Given the description of an element on the screen output the (x, y) to click on. 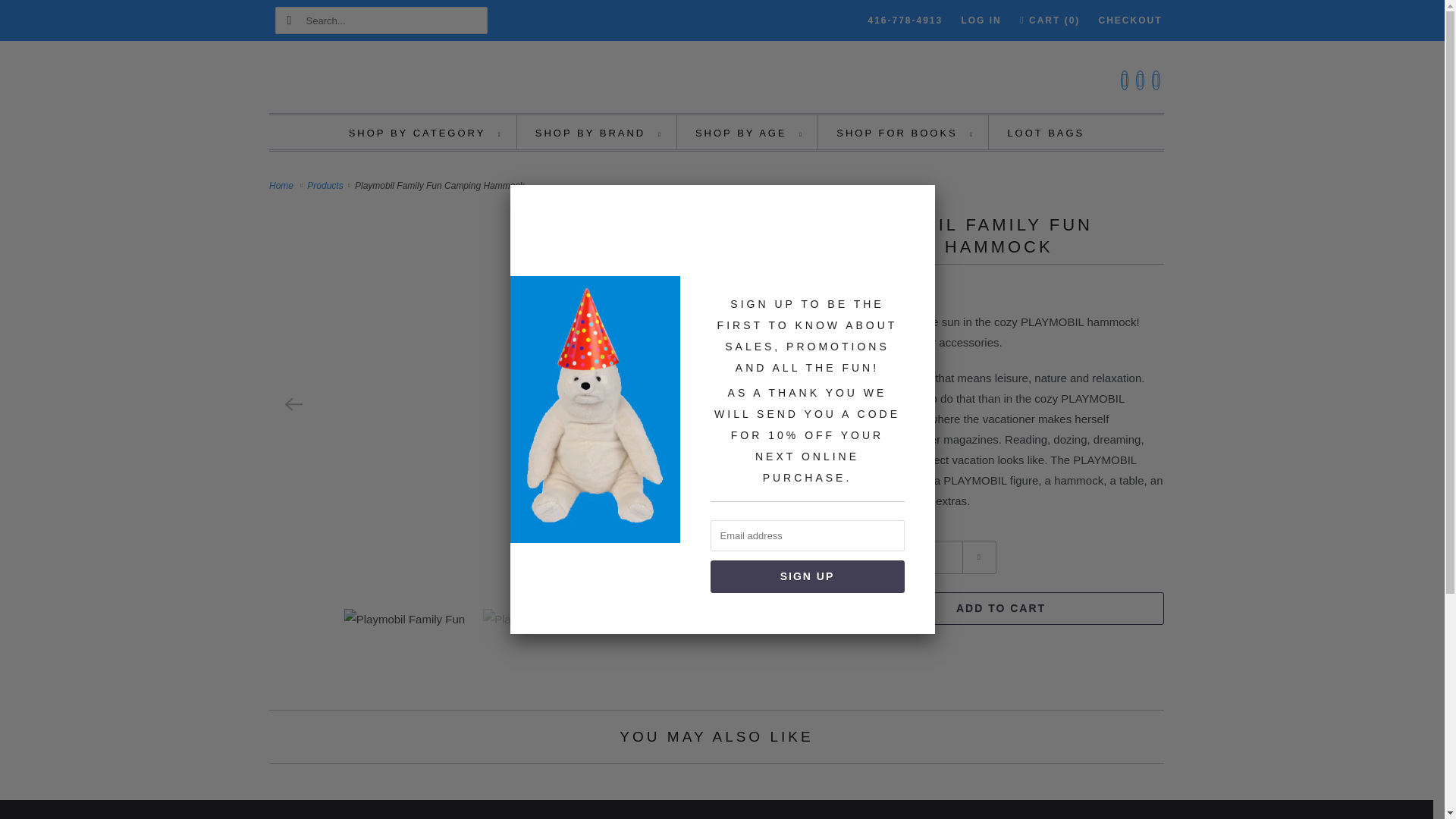
CHECKOUT (1129, 20)
1 (916, 557)
Treasure Island Toys (283, 185)
Treasure Island Toys (716, 80)
LOG IN (980, 20)
Sign Up (807, 576)
Products (326, 185)
416-778-4913 (904, 20)
